Given the description of an element on the screen output the (x, y) to click on. 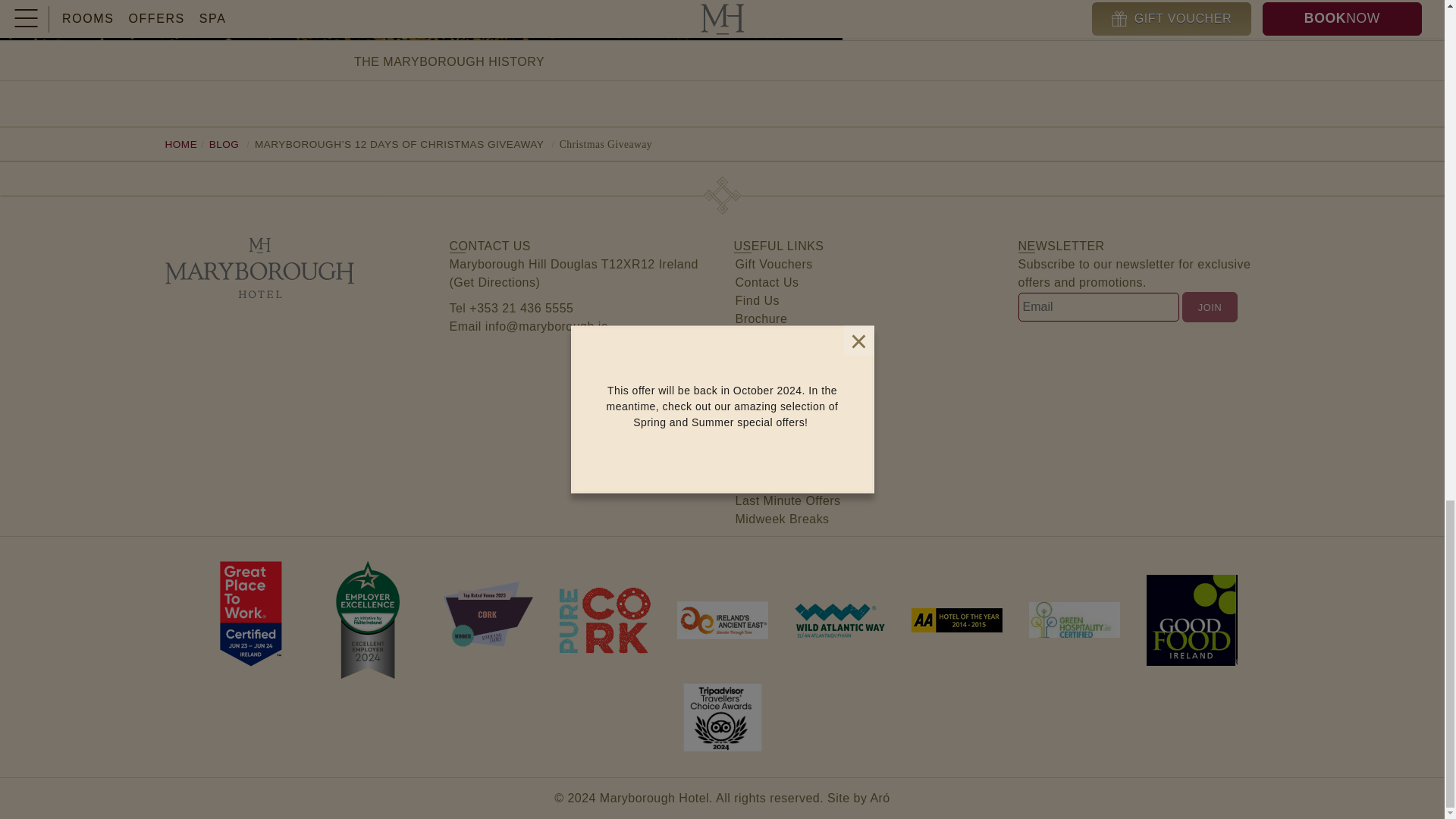
Join (1209, 306)
